Given the description of an element on the screen output the (x, y) to click on. 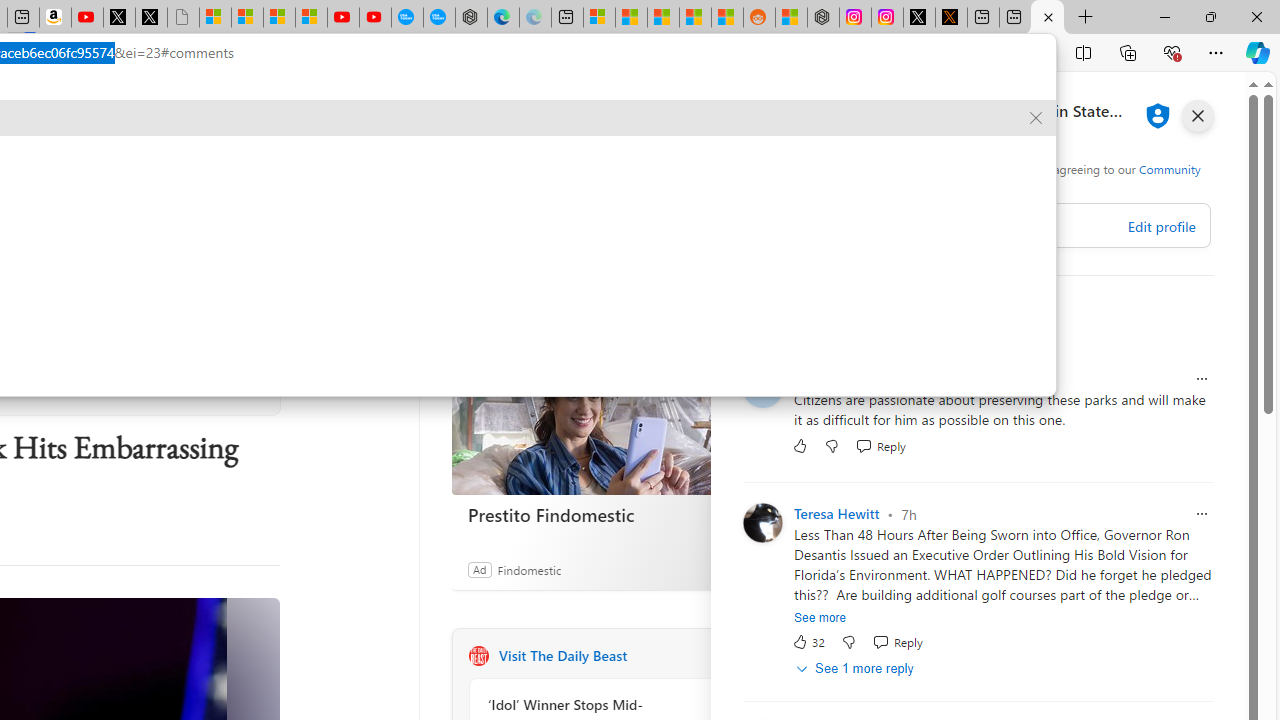
Motorsports (215, 162)
Open settings (1216, 105)
Log in to X / X (919, 17)
NCAA WBK (515, 162)
Motorsports (216, 162)
marilyn westhoff (847, 378)
Report comment (1201, 513)
